Given the description of an element on the screen output the (x, y) to click on. 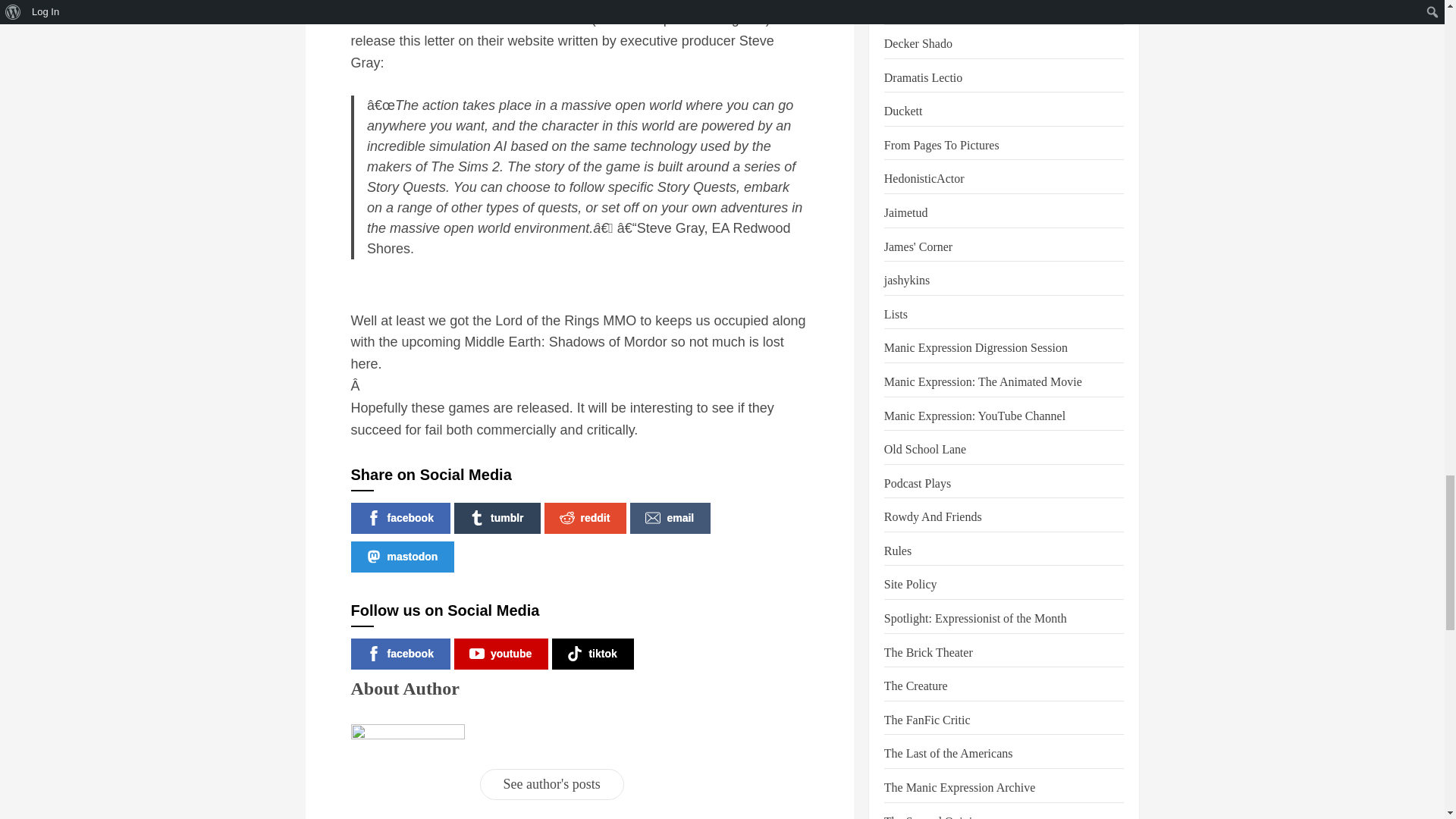
facebook (399, 517)
tumblr (497, 517)
